Given the description of an element on the screen output the (x, y) to click on. 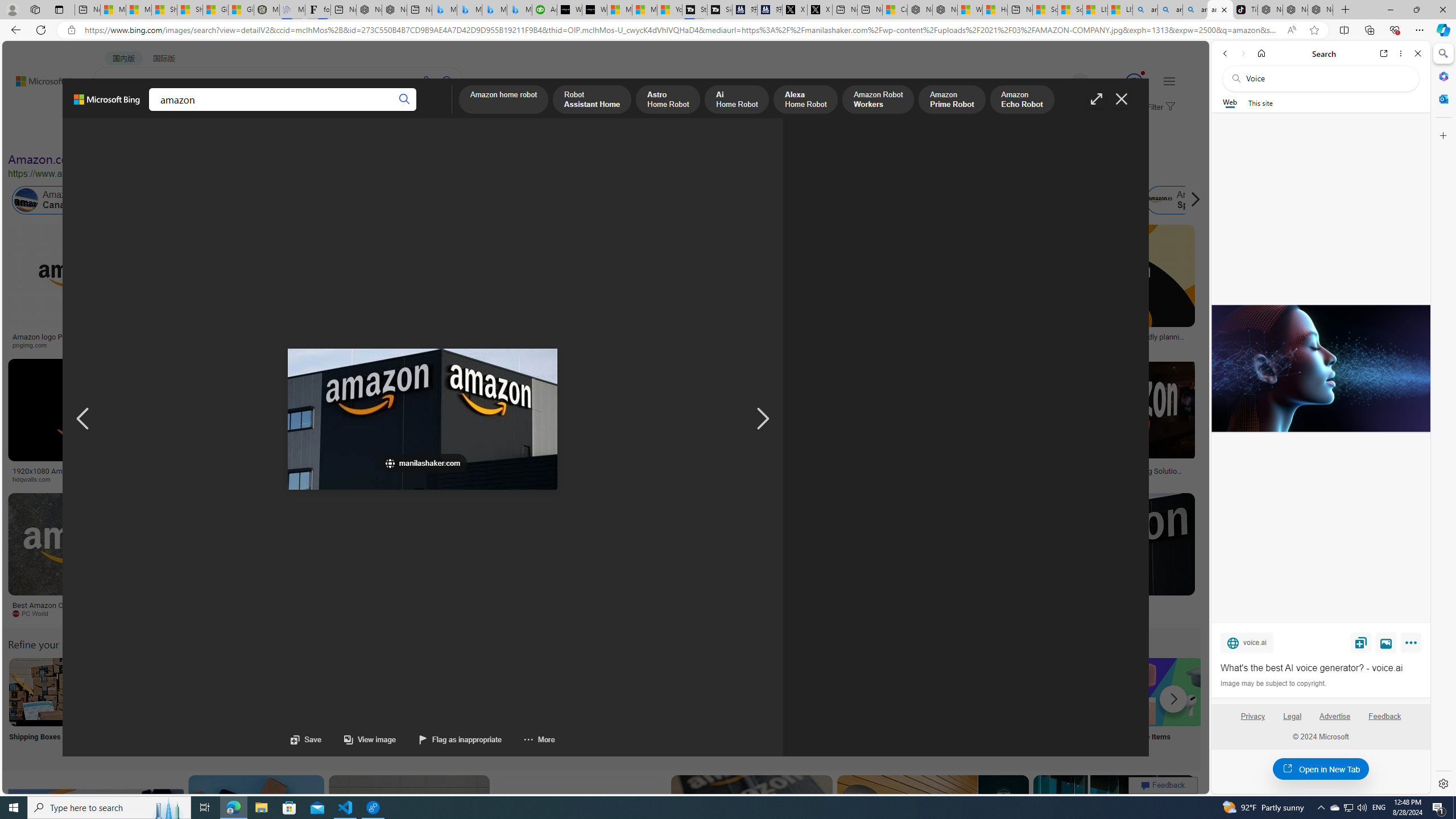
Listen: What's next for Amazon? (403, 336)
pngimg.com (76, 344)
MAPS (397, 111)
AutomationID: navl (82, 418)
Amazon Prime Shopping Online Prime Shopping Online (944, 706)
Amazon home robot (503, 100)
Clip Art (192, 706)
People (295, 135)
Type (212, 135)
Amazonprotothema.grSave (1104, 557)
Date (336, 135)
Package Delivery (418, 706)
